Given the description of an element on the screen output the (x, y) to click on. 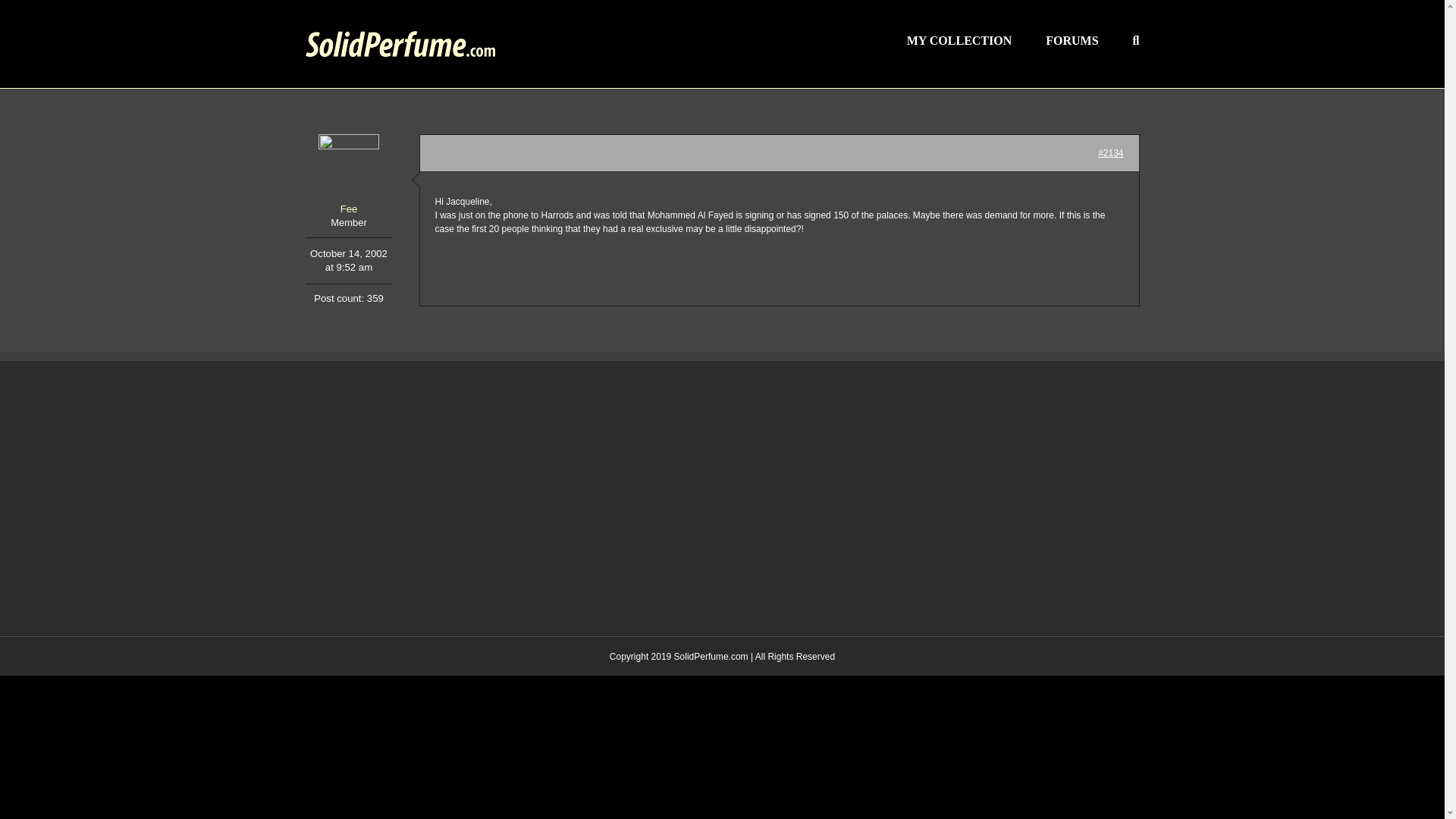
Advertisement (507, 499)
Fee (347, 175)
View Fee's profile (347, 175)
Advertisement (936, 499)
Search (1136, 39)
MY COLLECTION (959, 39)
FORUMS (1071, 39)
